Given the description of an element on the screen output the (x, y) to click on. 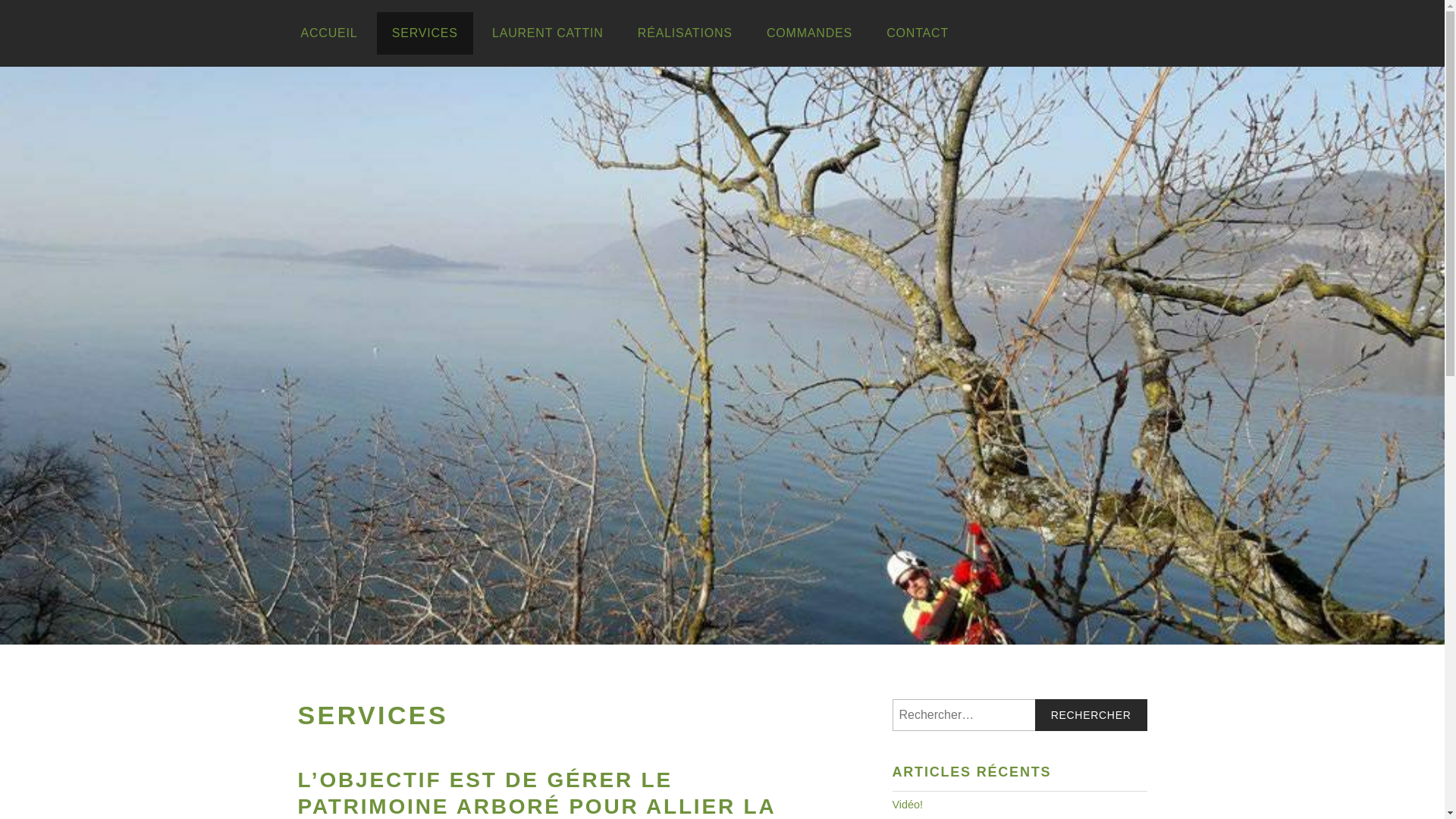
ACCUEIL Element type: text (328, 33)
LAURENT CATTIN Element type: text (547, 33)
SERVICES Element type: text (424, 33)
CONTACT Element type: text (917, 33)
ARBRO SERVICE Element type: text (832, 423)
Rechercher Element type: text (1091, 715)
COMMANDES Element type: text (809, 33)
